Given the description of an element on the screen output the (x, y) to click on. 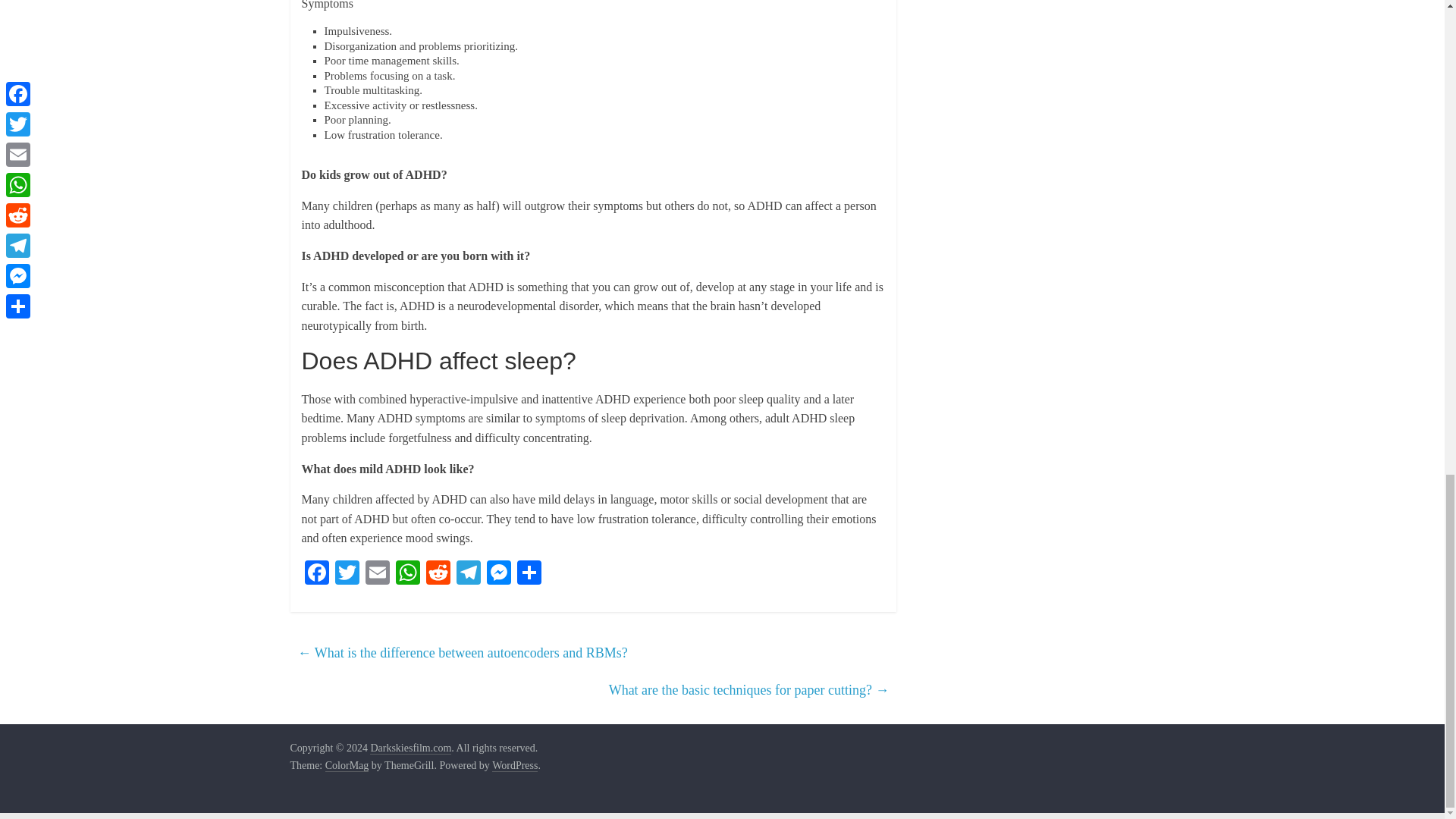
Email (377, 574)
Messenger (498, 574)
Telegram (467, 574)
Reddit (437, 574)
Facebook (316, 574)
WhatsApp (408, 574)
WhatsApp (408, 574)
Messenger (498, 574)
WordPress (514, 766)
Email (377, 574)
Facebook (316, 574)
Telegram (467, 574)
ColorMag (346, 766)
Darkskiesfilm.com (410, 748)
Darkskiesfilm.com (410, 748)
